Given the description of an element on the screen output the (x, y) to click on. 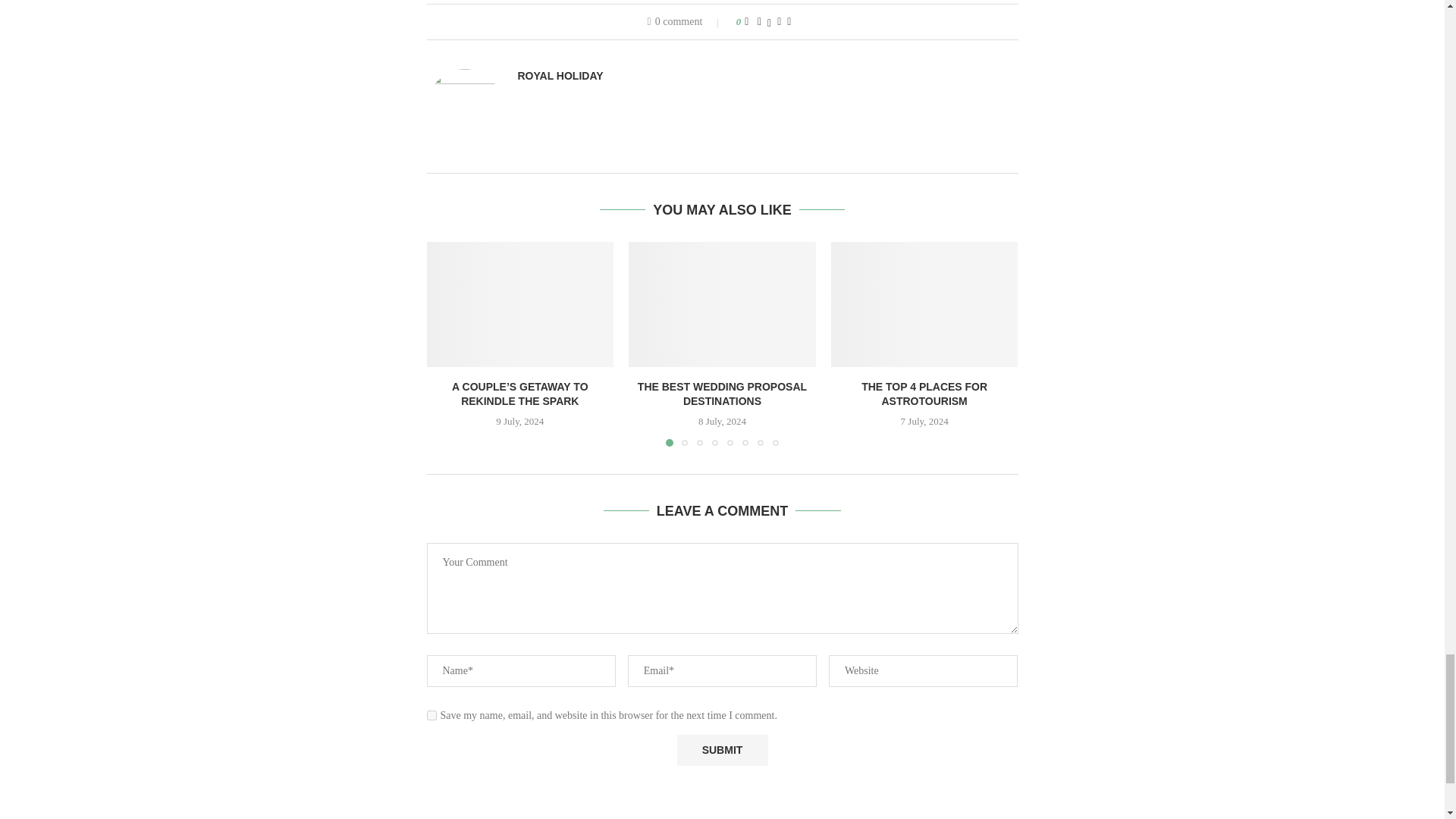
THE TOP 4 PLACES FOR ASTROTOURISM (924, 303)
Submit (722, 749)
Author Royal Holiday (559, 75)
yes (430, 715)
THE BEST WEDDING PROPOSAL DESTINATIONS (721, 303)
